Given the description of an element on the screen output the (x, y) to click on. 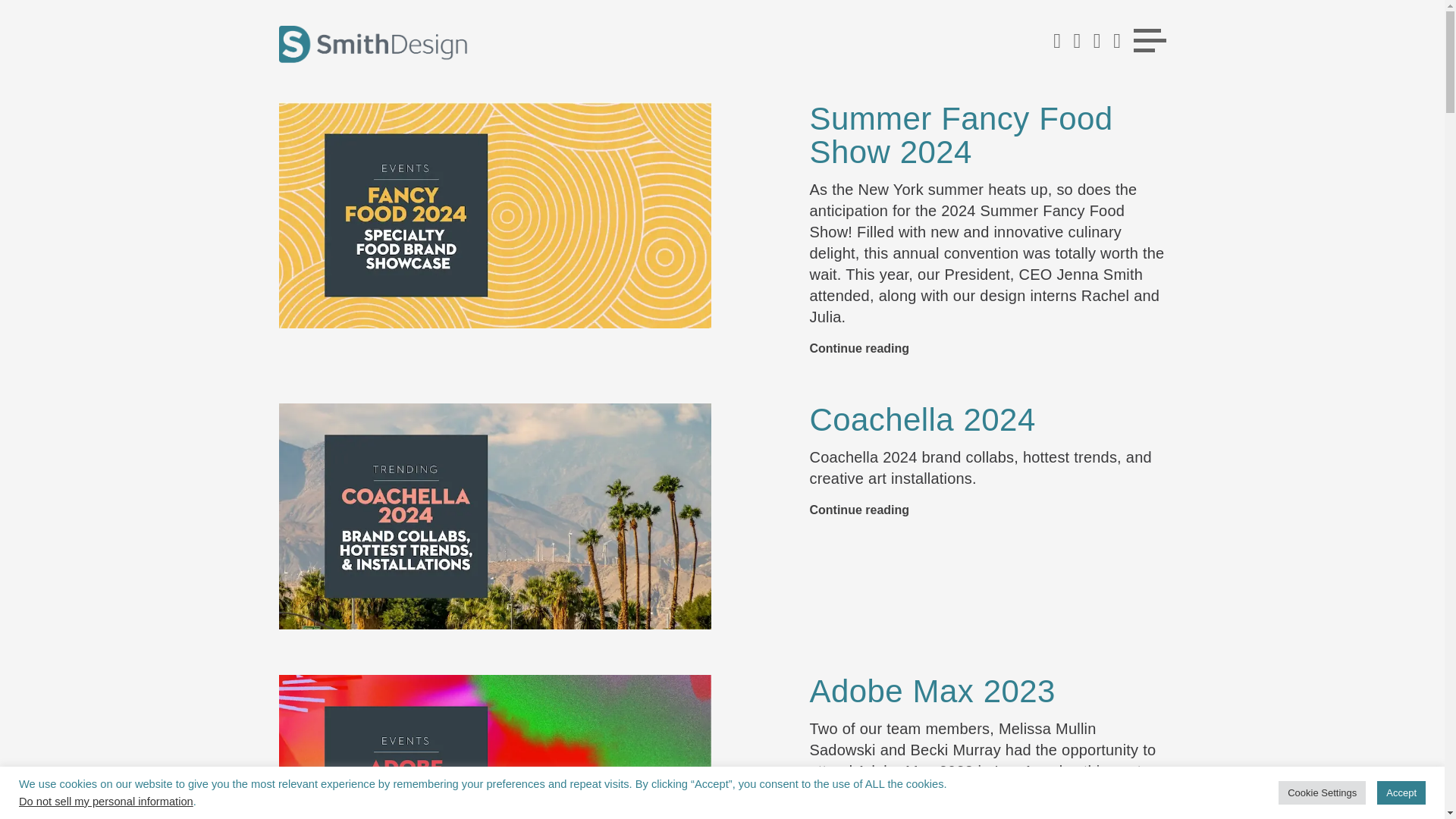
Adobe Max 2023 (931, 691)
Summer Fancy Food Show 2024 (960, 134)
Continue reading (858, 509)
Coachella 2024 (922, 419)
Continue reading (858, 348)
